Given the description of an element on the screen output the (x, y) to click on. 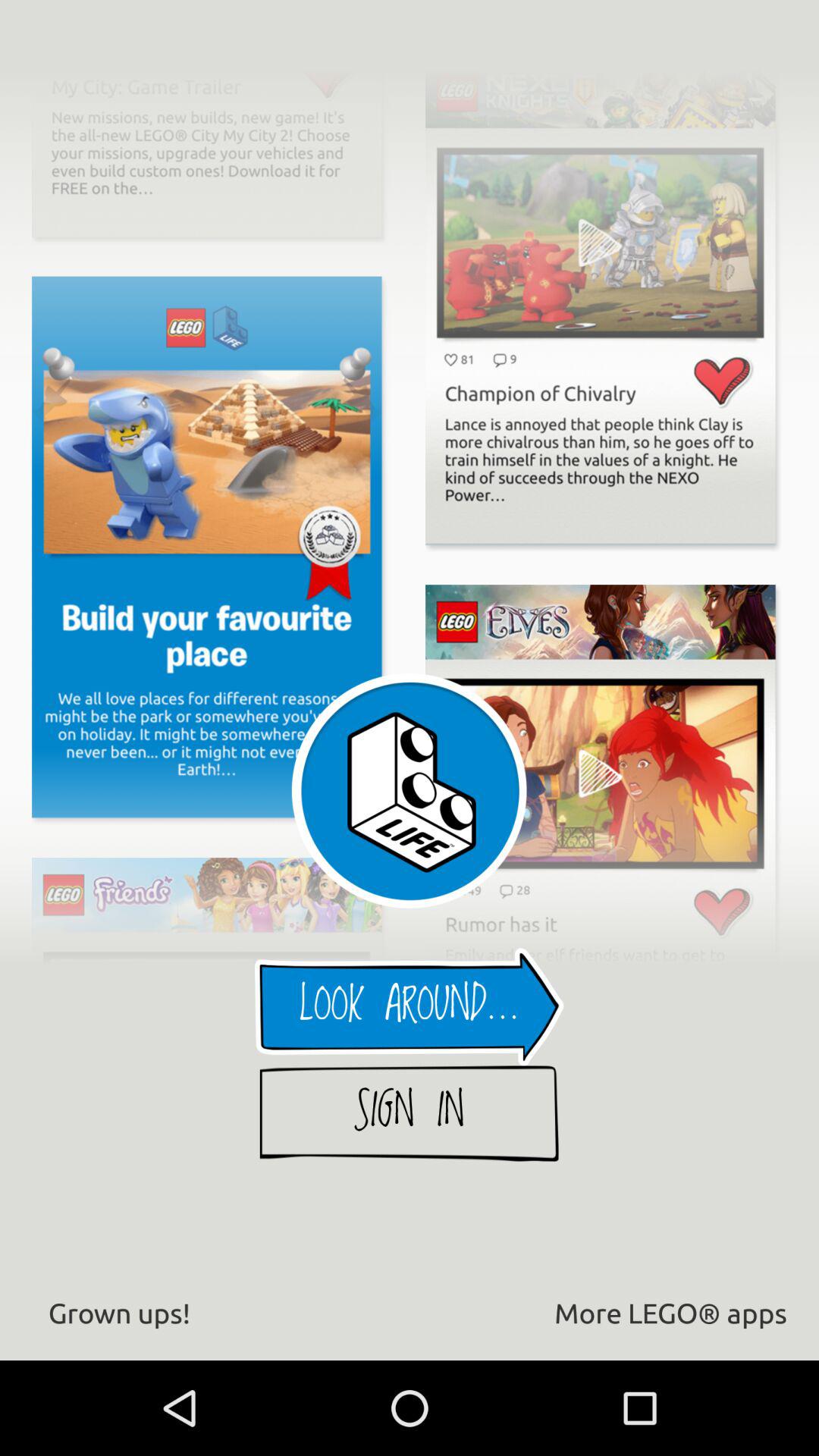
click on the life image which is above the look around (409, 791)
text at the bottom right corner of the page (606, 1313)
the text shown at the bottom right corner of the page (670, 1312)
click on grown ups at the bottom left corner of the page (119, 1312)
